Given the description of an element on the screen output the (x, y) to click on. 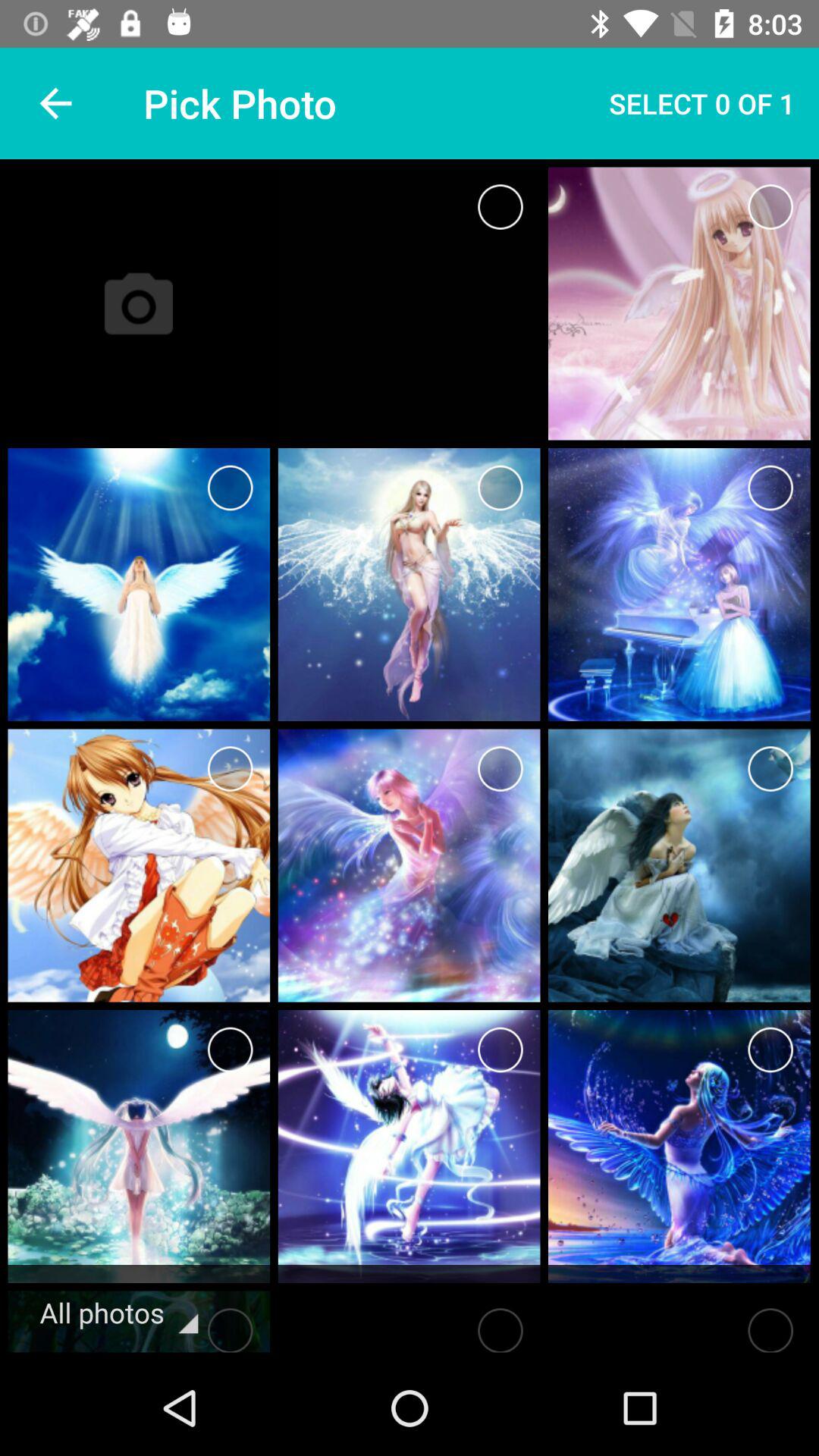
select the image (500, 487)
